Given the description of an element on the screen output the (x, y) to click on. 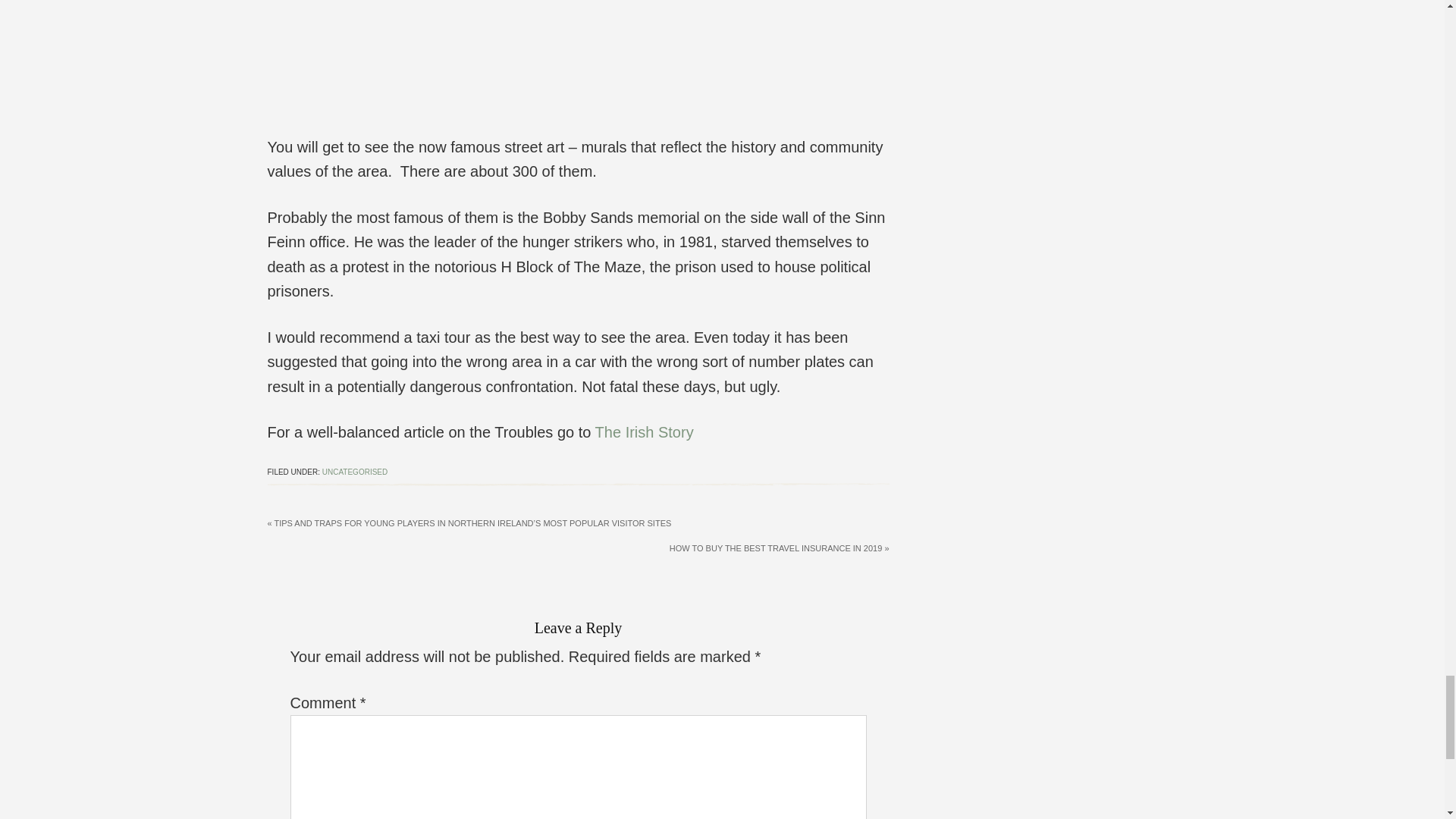
The Irish Story (644, 432)
UNCATEGORISED (354, 471)
